Given the description of an element on the screen output the (x, y) to click on. 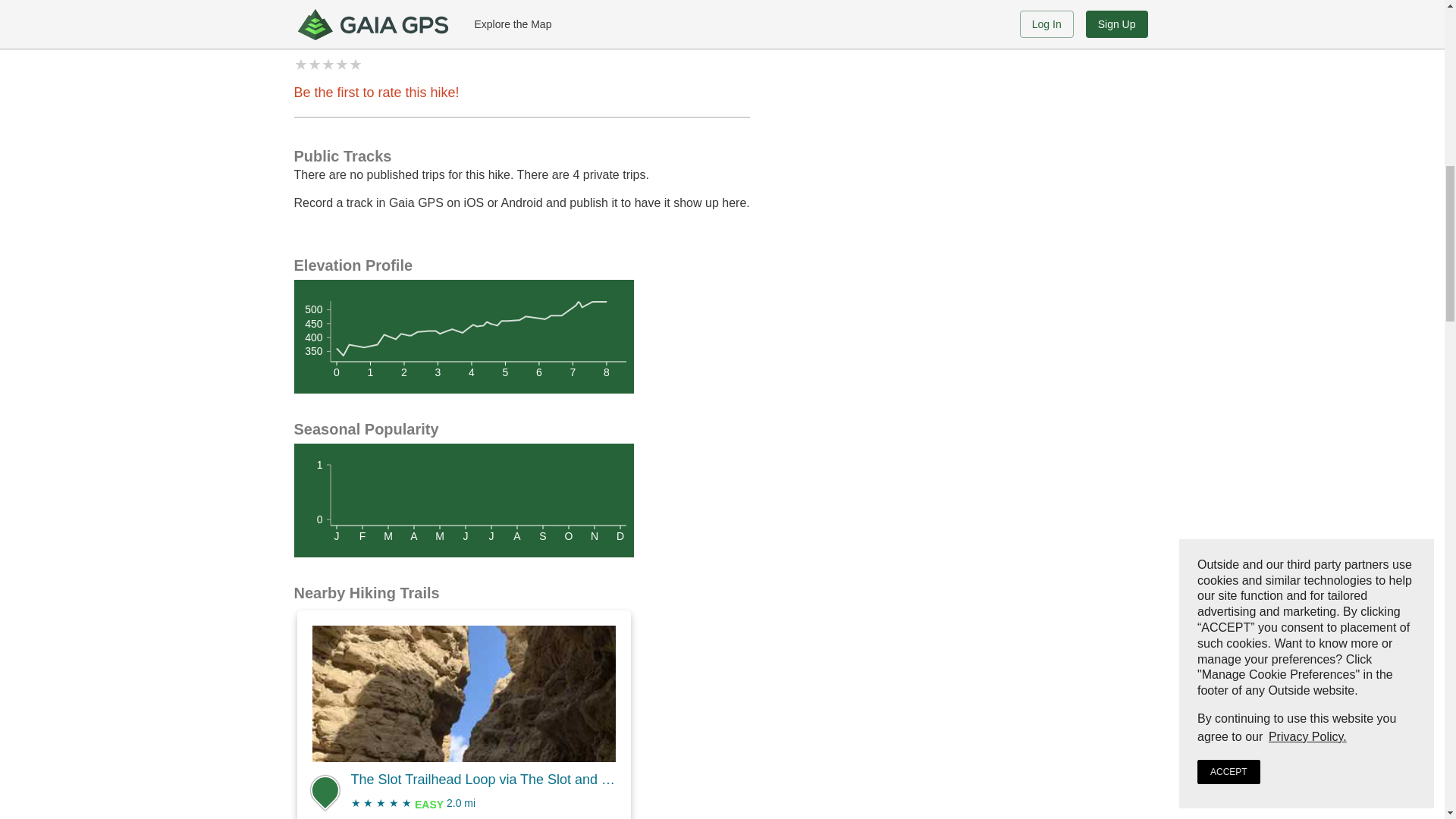
Miles (463, 334)
